Given the description of an element on the screen output the (x, y) to click on. 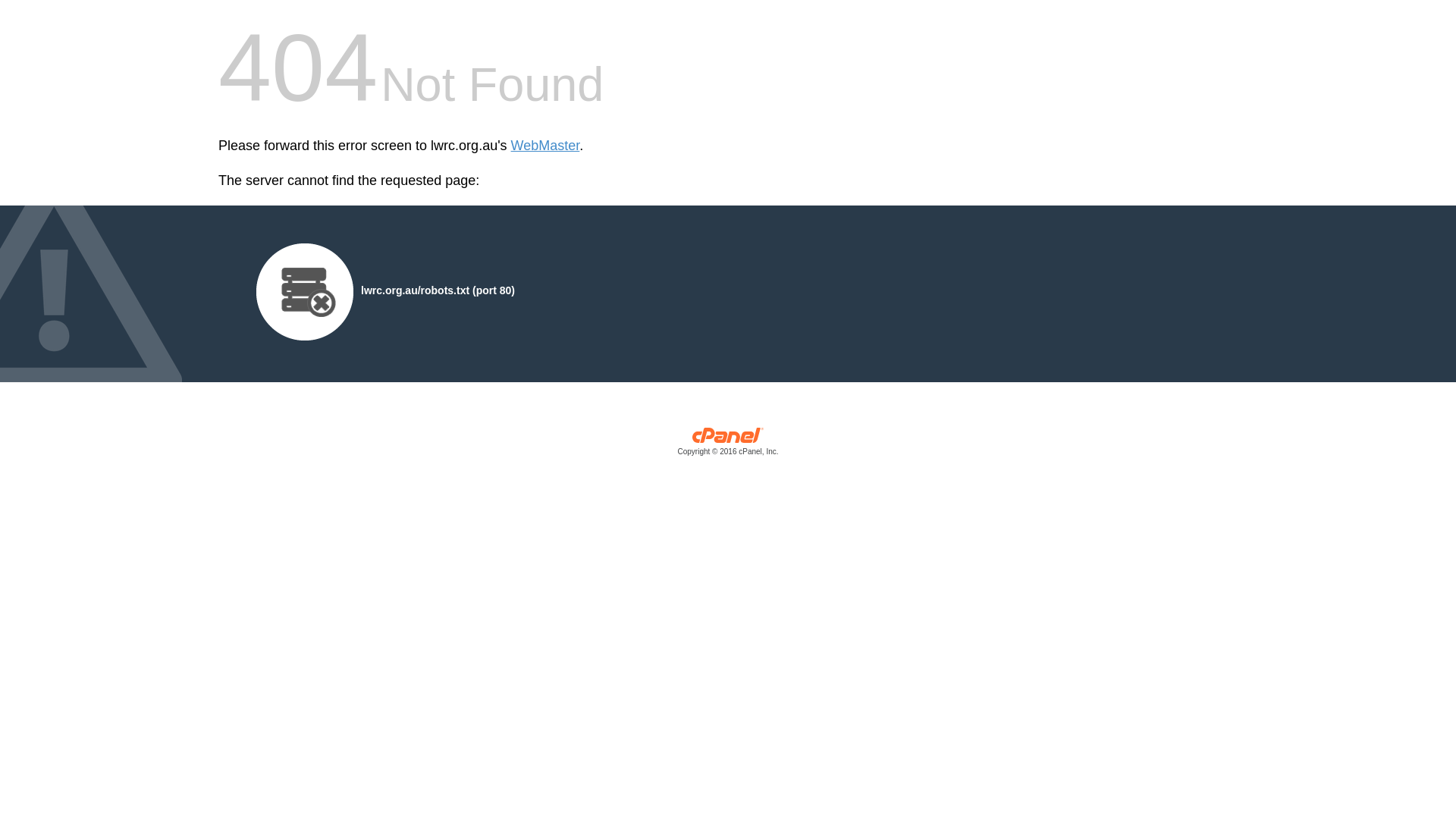
WebMaster Element type: text (545, 145)
